Given the description of an element on the screen output the (x, y) to click on. 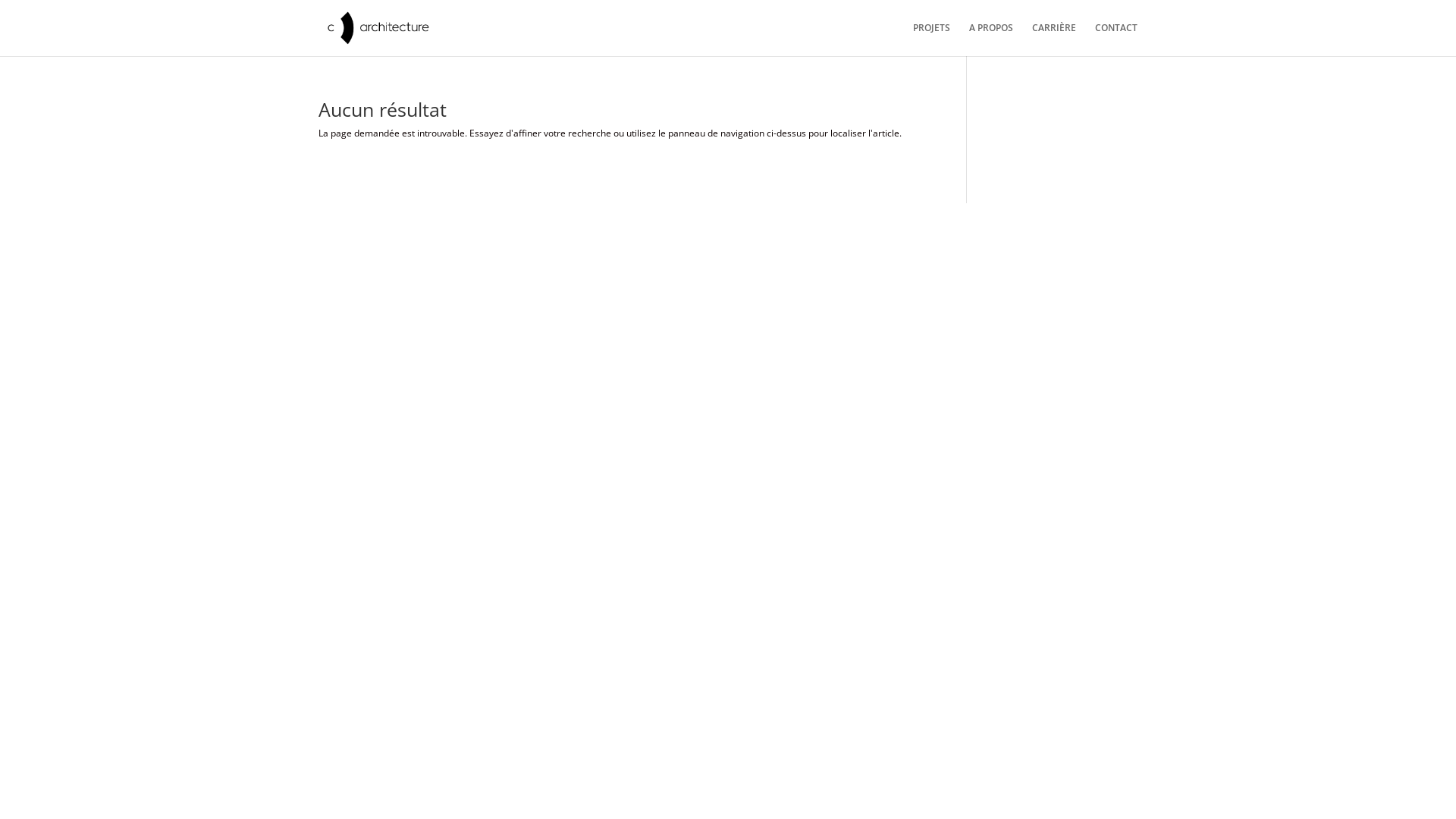
A PROPOS Element type: text (991, 39)
CONTACT Element type: text (1116, 39)
PROJETS Element type: text (931, 39)
